Given the description of an element on the screen output the (x, y) to click on. 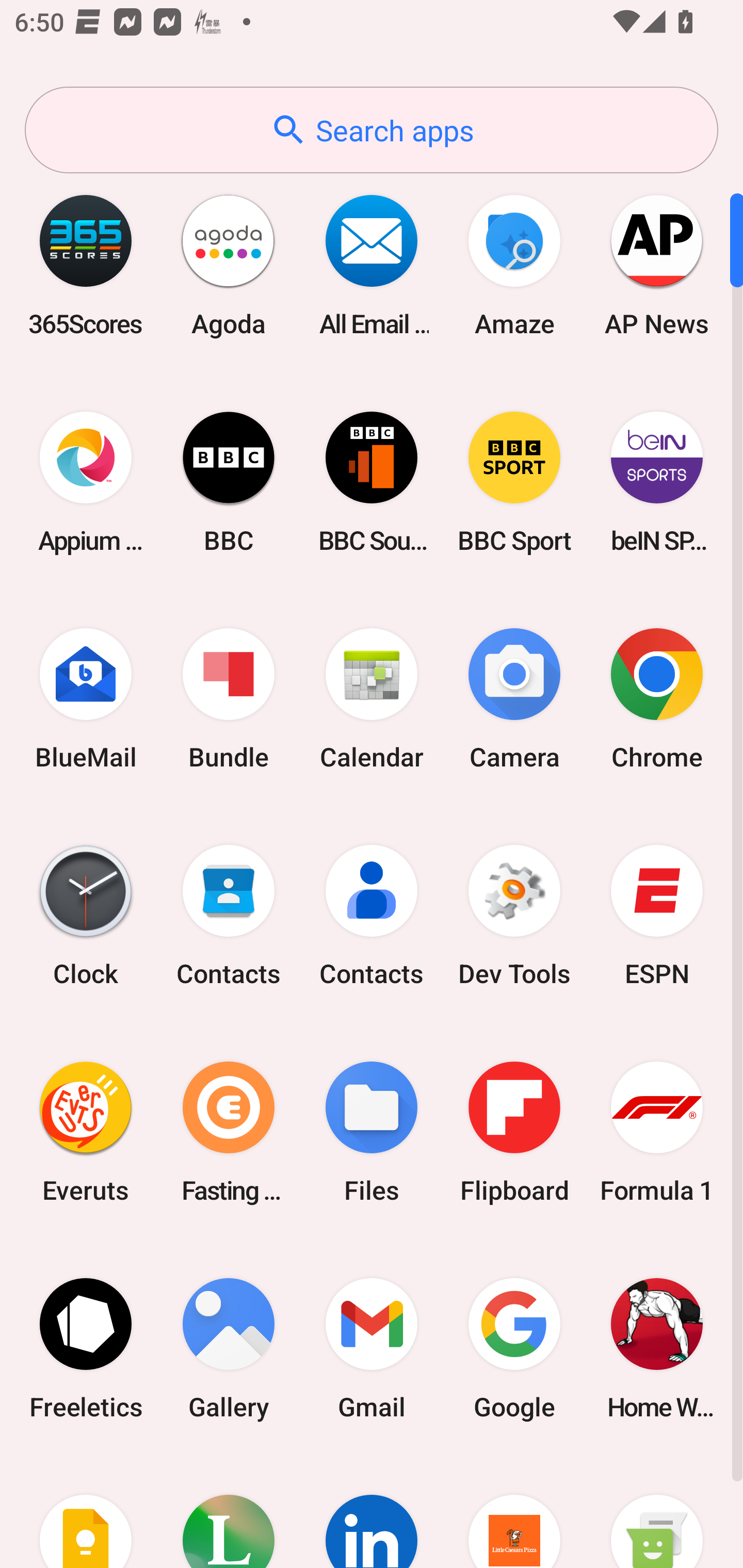
  Search apps (371, 130)
365Scores (85, 264)
Agoda (228, 264)
All Email Connect (371, 264)
Amaze (514, 264)
AP News (656, 264)
Appium Settings (85, 482)
BBC (228, 482)
BBC Sounds (371, 482)
BBC Sport (514, 482)
beIN SPORTS (656, 482)
BlueMail (85, 699)
Bundle (228, 699)
Calendar (371, 699)
Camera (514, 699)
Chrome (656, 699)
Clock (85, 915)
Contacts (228, 915)
Contacts (371, 915)
Dev Tools (514, 915)
ESPN (656, 915)
Everuts (85, 1131)
Fasting Coach (228, 1131)
Files (371, 1131)
Flipboard (514, 1131)
Formula 1 (656, 1131)
Freeletics (85, 1348)
Gallery (228, 1348)
Gmail (371, 1348)
Google (514, 1348)
Home Workout (656, 1348)
Keep Notes (85, 1512)
Lifesum (228, 1512)
LinkedIn (371, 1512)
Little Caesars Pizza (514, 1512)
Messaging (656, 1512)
